Given the description of an element on the screen output the (x, y) to click on. 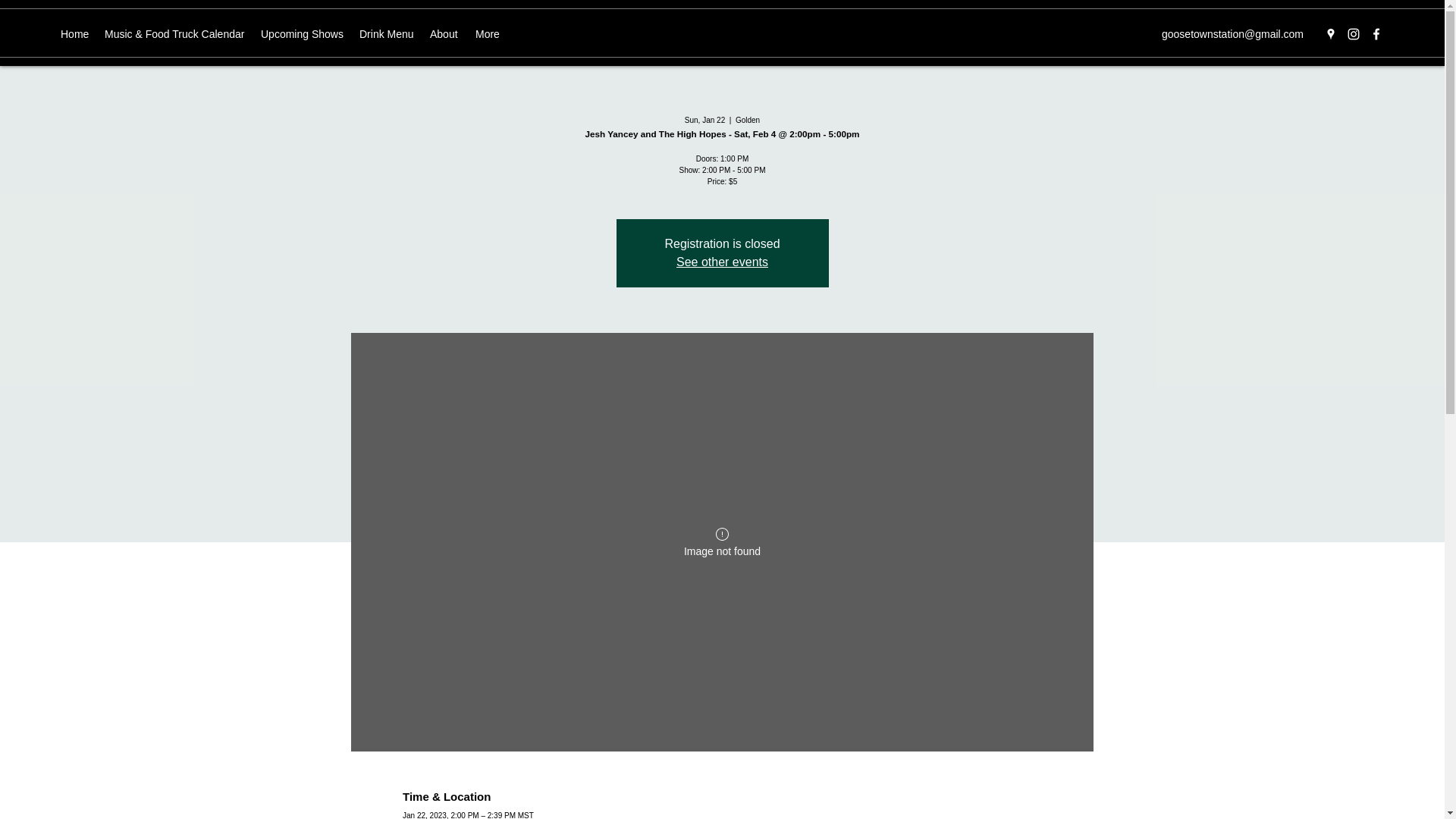
See other events (722, 261)
Upcoming Shows (302, 33)
Home (74, 33)
Drink Menu (387, 33)
About (444, 33)
